Given the description of an element on the screen output the (x, y) to click on. 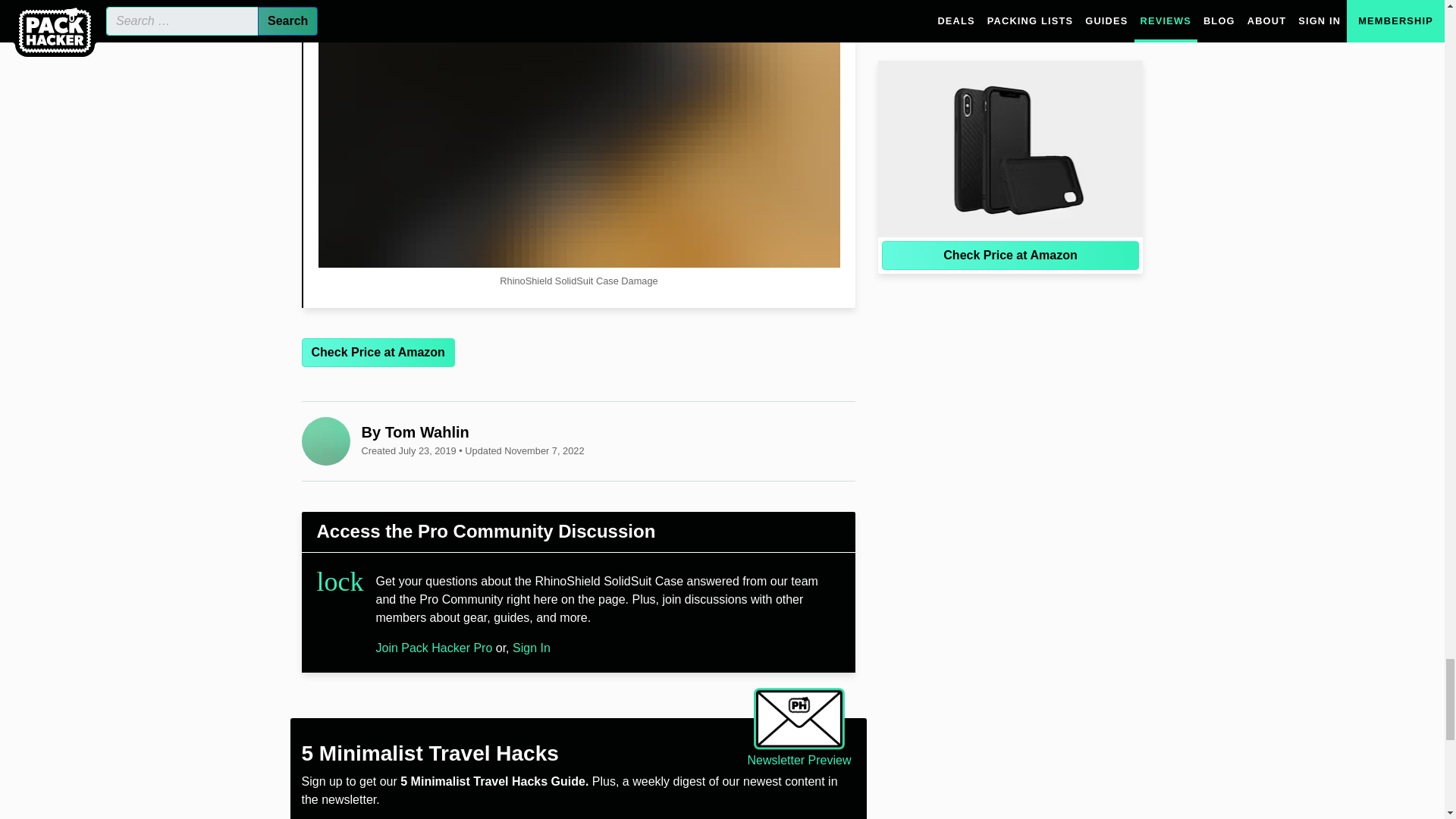
lock (340, 581)
Sign In (531, 647)
Newsletter Preview (799, 728)
Newsletter Preview (799, 728)
Join Pack Hacker Pro (433, 647)
Check Price at Amazon (377, 352)
